Given the description of an element on the screen output the (x, y) to click on. 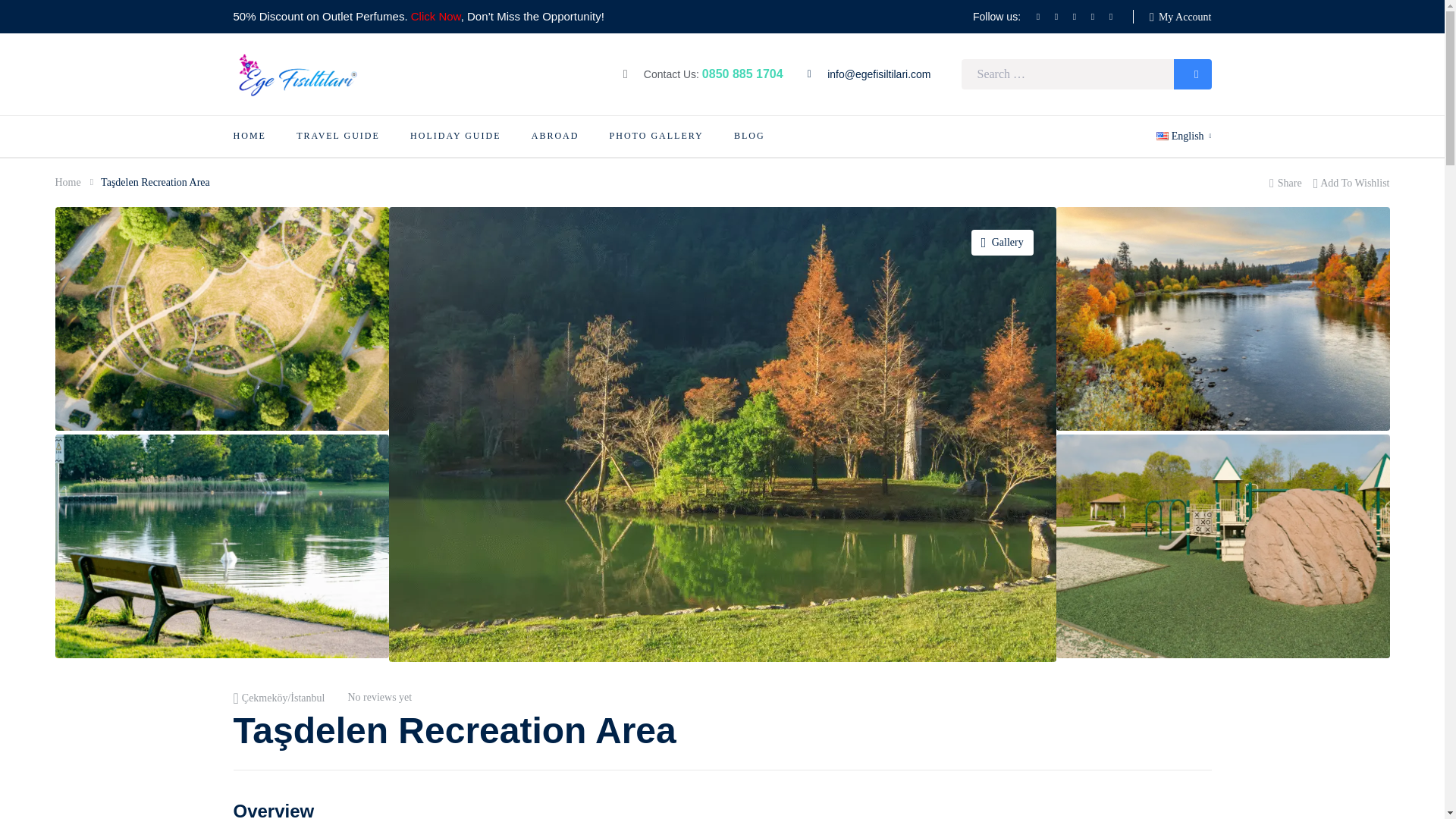
PHOTO GALLERY (656, 136)
TRAVEL GUIDE (338, 136)
HOLIDAY GUIDE (455, 136)
English (1183, 136)
Gallery (1002, 242)
Home (67, 182)
ABROAD (555, 136)
Contact Us: 0850 885 1704 (703, 74)
Search (1192, 73)
My Account (1180, 17)
Click Now (435, 15)
Add To Wishlist (1351, 182)
Share (1285, 182)
Top (1420, 790)
Please login account (1351, 182)
